Given the description of an element on the screen output the (x, y) to click on. 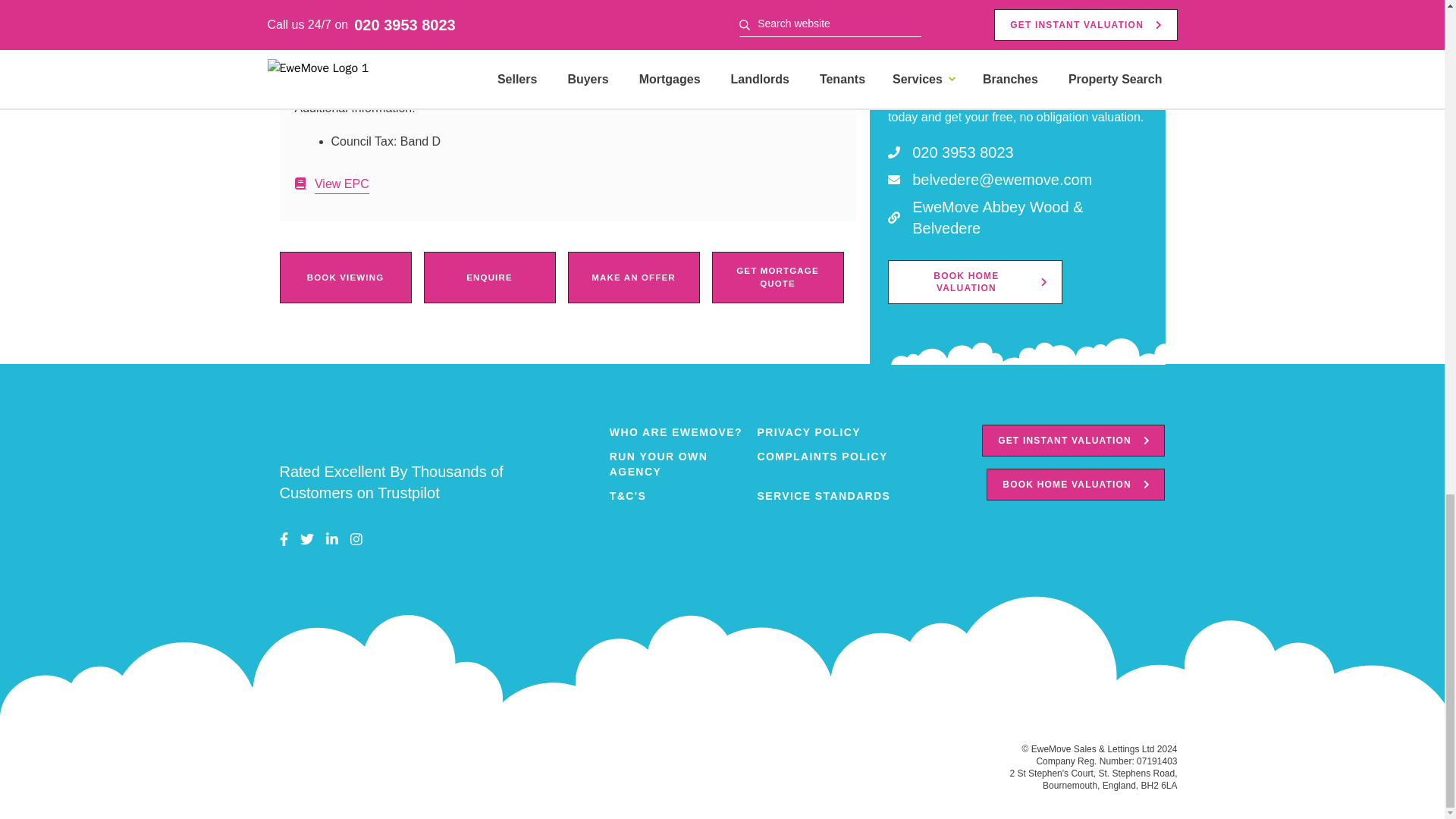
ENQUIRE (488, 277)
View EPC (331, 183)
MAKE AN OFFER (632, 277)
BOOK VIEWING (344, 277)
PRIVACY POLICY (830, 432)
WHO ARE EWEMOVE? (683, 432)
GET MORTGAGE QUOTE (777, 277)
COMPLAINTS POLICY (830, 463)
RUN YOUR OWN AGENCY (683, 463)
